Given the description of an element on the screen output the (x, y) to click on. 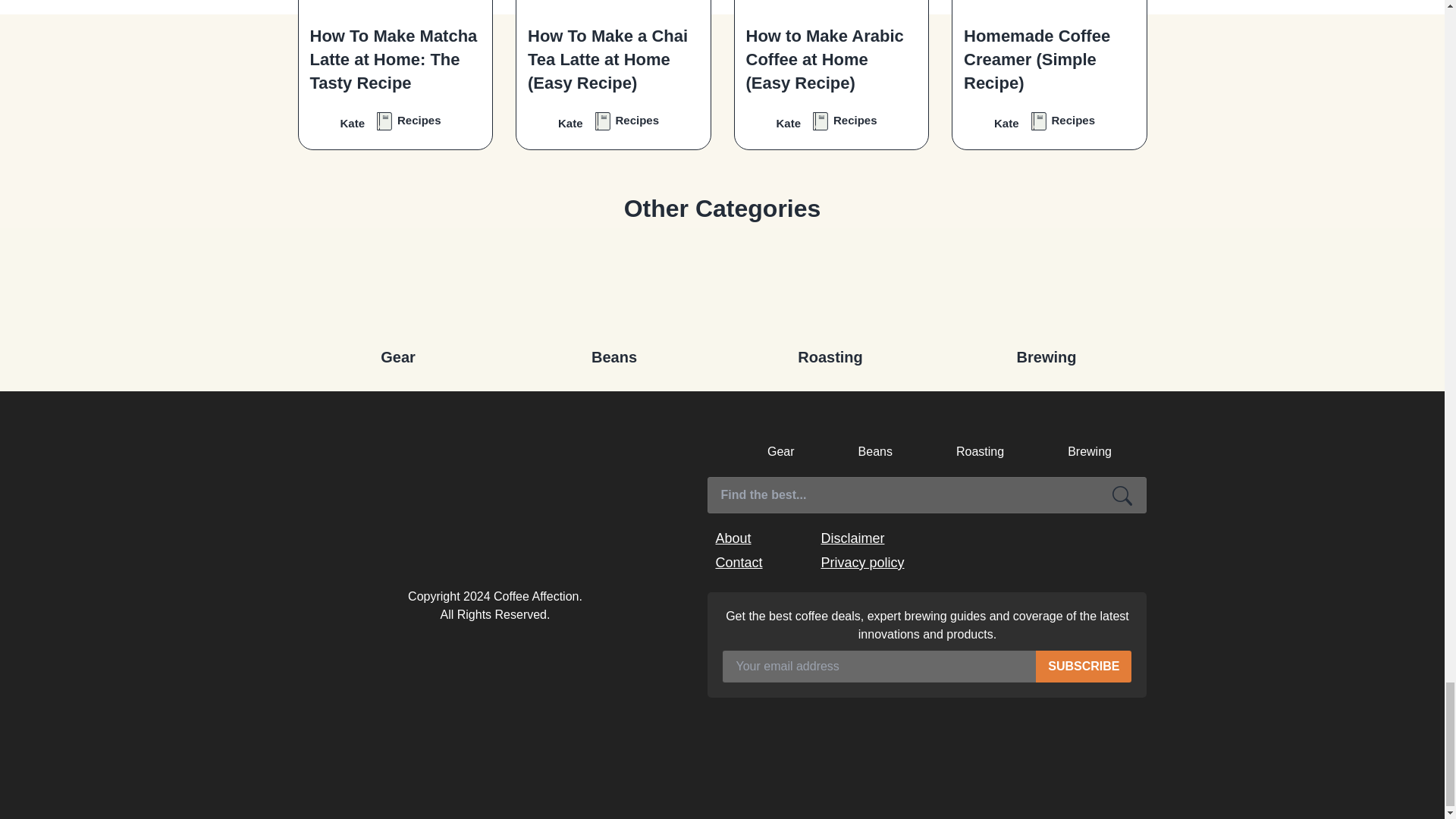
Roasting (829, 290)
Gear (397, 290)
Beans (614, 290)
Search (1122, 494)
Brewing (1046, 290)
